Given the description of an element on the screen output the (x, y) to click on. 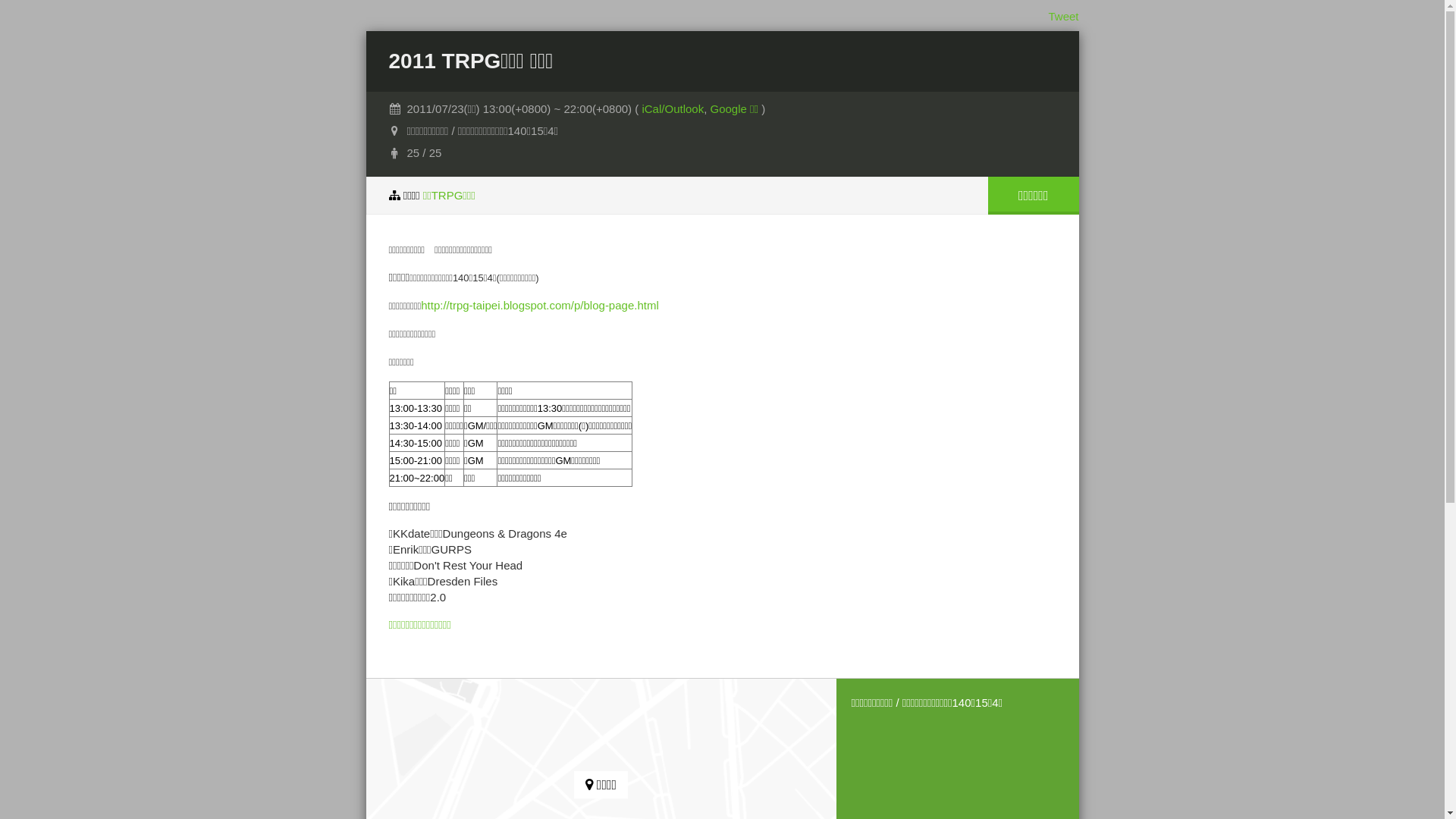
http://trpg-taipei.blogspot.com/p/blog-page.html Element type: text (539, 304)
Tweet Element type: text (1063, 15)
iCal/Outlook Element type: text (672, 108)
